Given the description of an element on the screen output the (x, y) to click on. 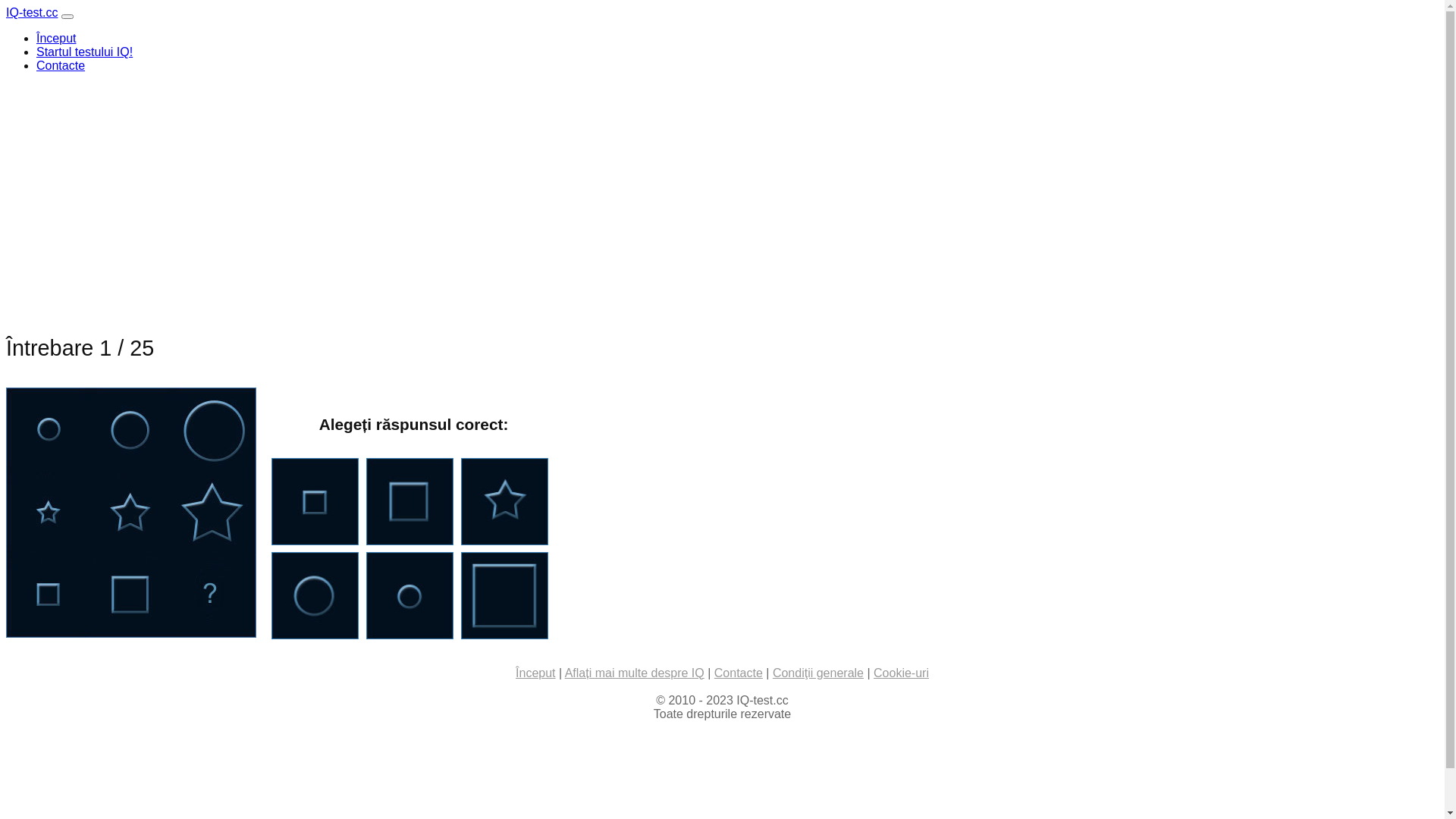
Advertisement Element type: hover (461, 190)
IQ-test.cc Element type: text (31, 12)
Startul testului IQ! Element type: text (84, 51)
Cookie-uri Element type: text (900, 672)
Contacte Element type: text (738, 672)
Contacte Element type: text (60, 65)
